Given the description of an element on the screen output the (x, y) to click on. 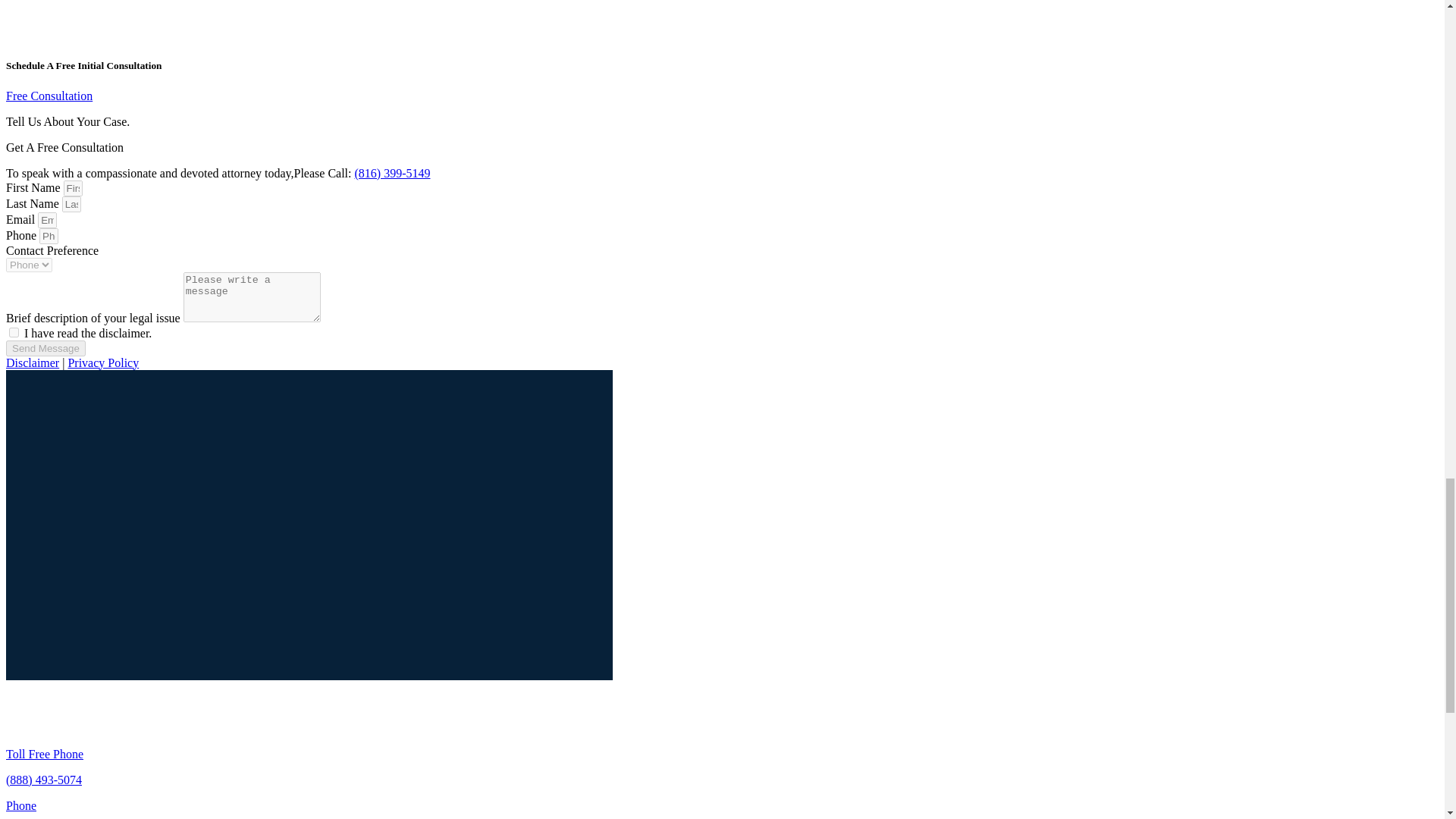
on (13, 332)
